Given the description of an element on the screen output the (x, y) to click on. 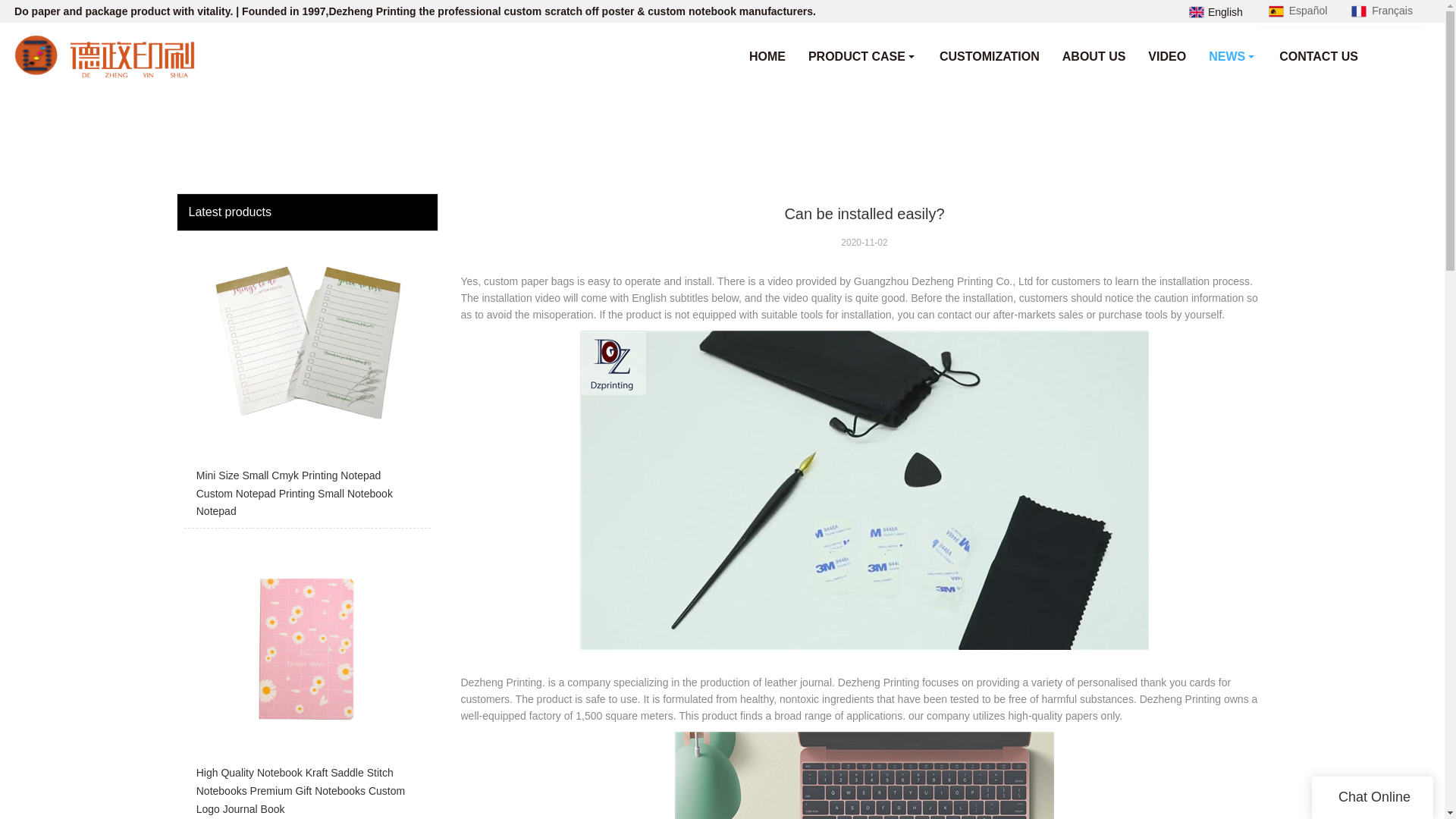
PRODUCT CASE (862, 56)
